Given the description of an element on the screen output the (x, y) to click on. 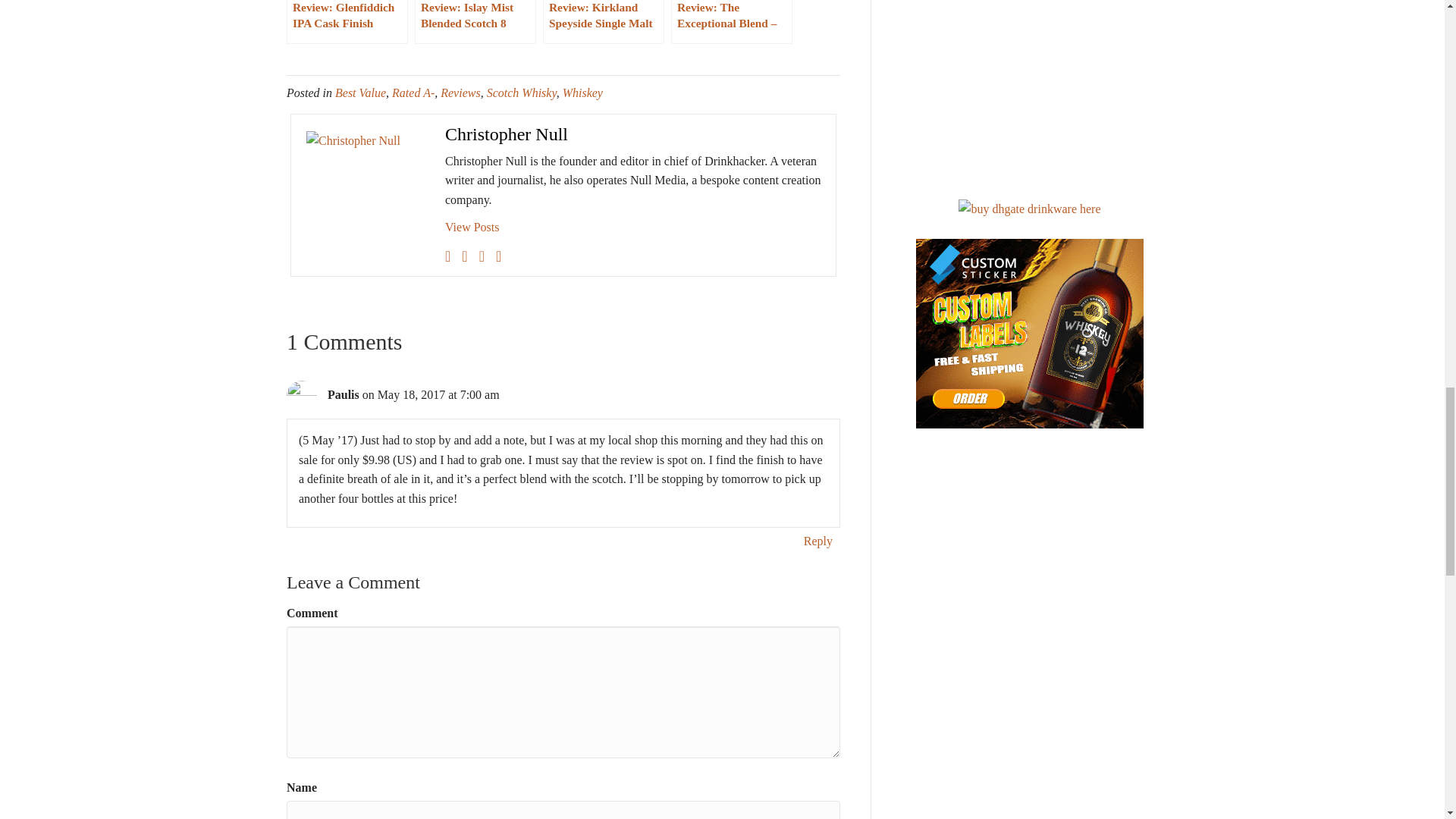
Review: Islay Mist Blended Scotch 8 Years Old (474, 22)
Review: Glenfiddich IPA Cask Finish (346, 22)
